Given the description of an element on the screen output the (x, y) to click on. 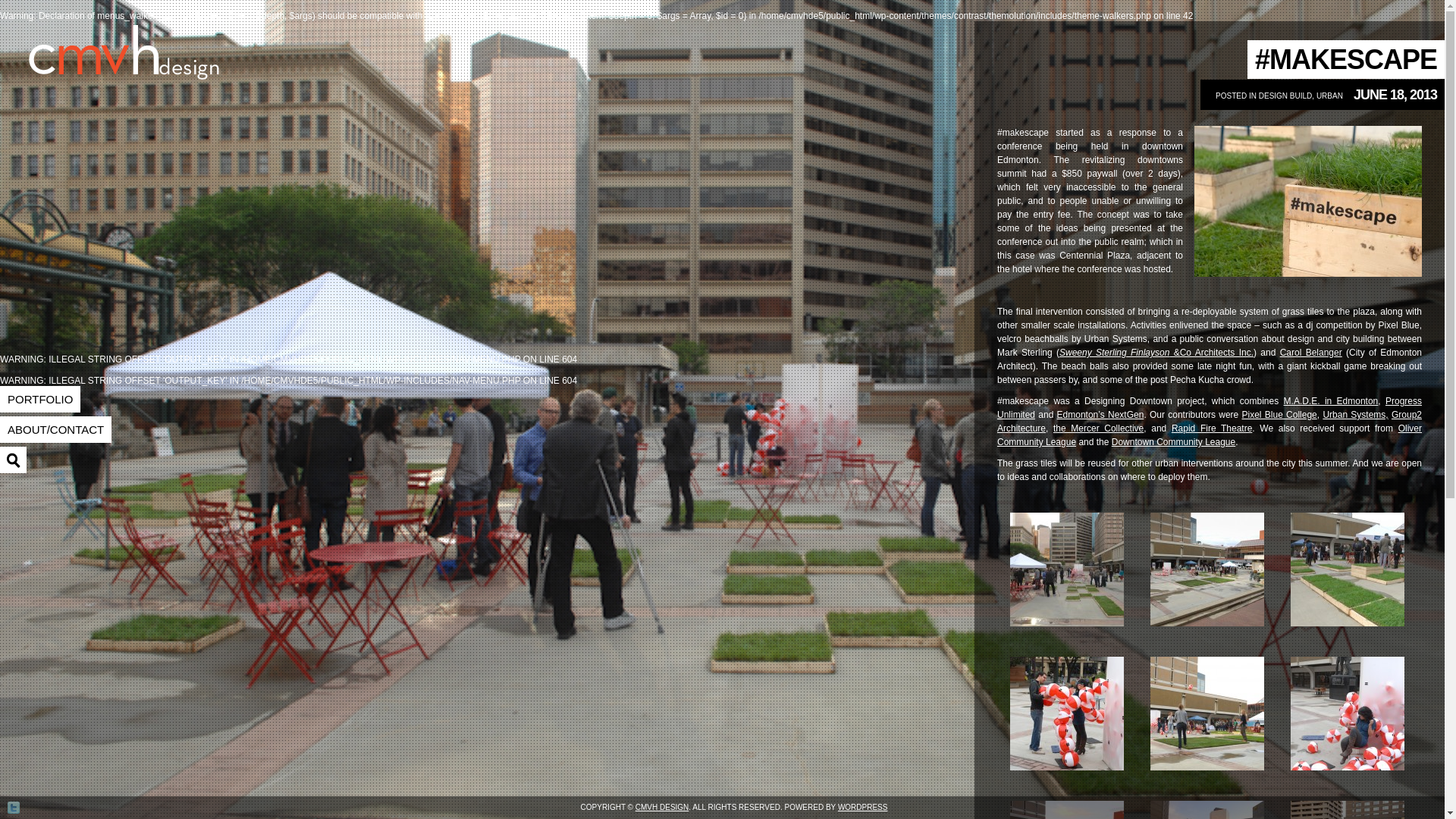
Urban Systems, (1354, 414)
Oliver Community League (1209, 435)
CMVH DESIGN (661, 807)
the Mercer Collective (1097, 428)
pixelbluefx (1279, 414)
nextgen (1100, 414)
URBAN (1329, 95)
MADE (1331, 400)
Rapid Fire Theatre (1212, 428)
Progress Unlimited (1209, 407)
